Given the description of an element on the screen output the (x, y) to click on. 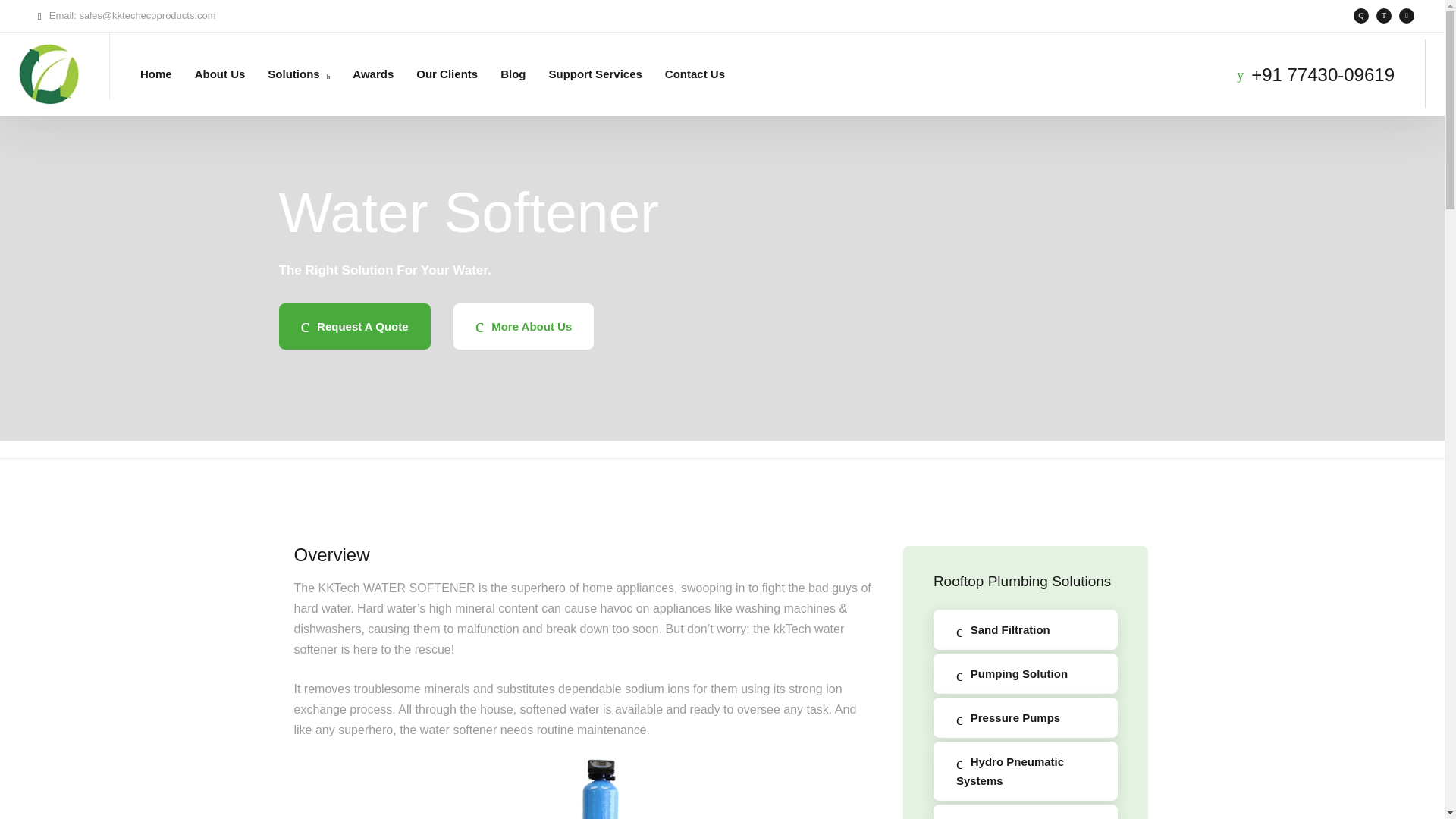
Support Services (595, 73)
Drainage And Sewage Pumps (1025, 811)
Pumping Solution (1025, 673)
Pressure Pumps (1025, 717)
Our Clients (446, 73)
Water Softener (582, 787)
Request A Quote (354, 326)
Sand Filtration (1025, 629)
More About Us (523, 326)
Hydro Pneumatic Systems (1025, 771)
